Given the description of an element on the screen output the (x, y) to click on. 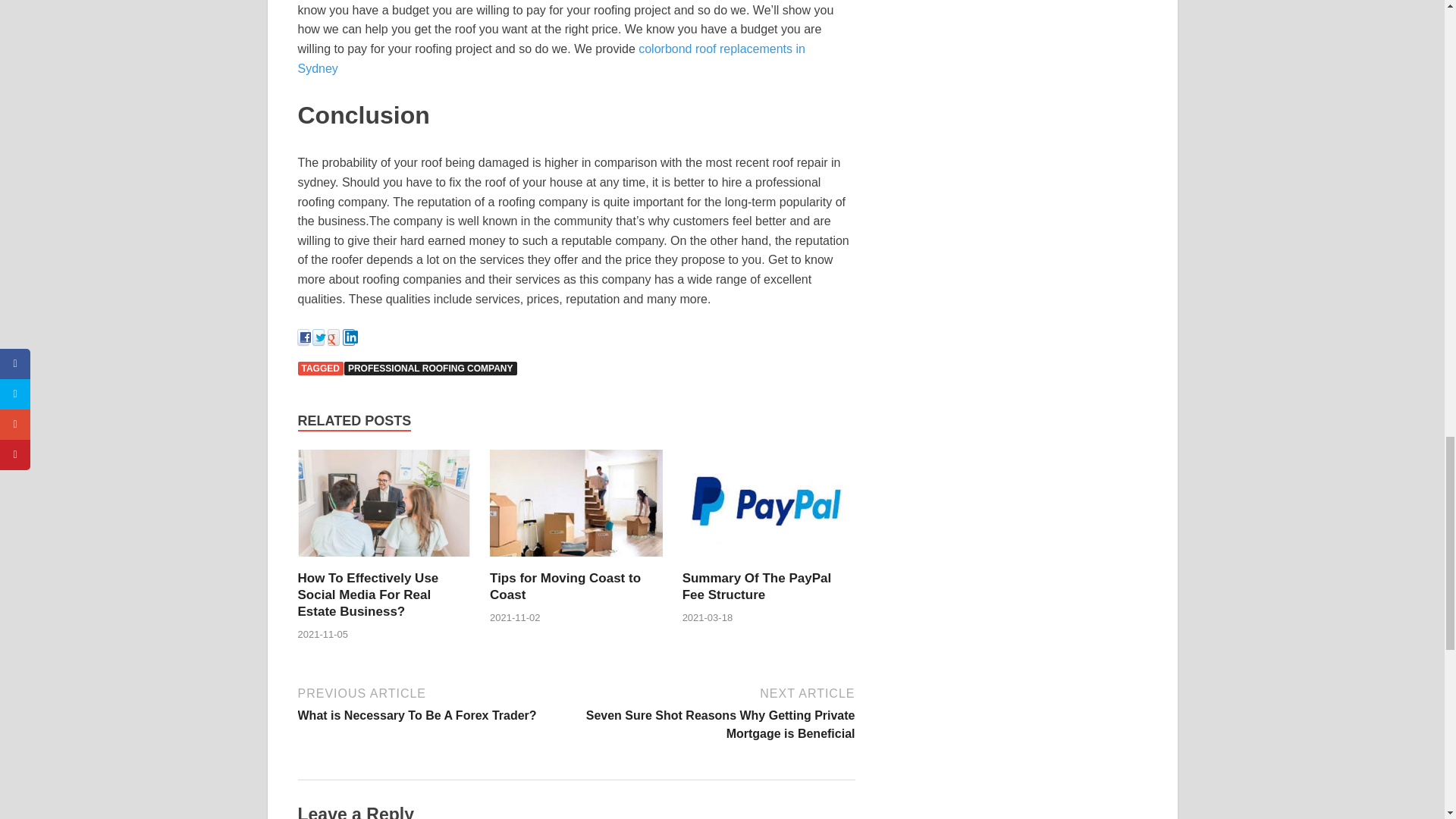
Tips for Moving Coast to Coast (564, 585)
PROFESSIONAL ROOFING COMPANY (436, 702)
Summary Of The PayPal Fee Structure (429, 368)
Tips for Moving Coast to Coast (769, 560)
colorbond roof replacements in Sydney (575, 560)
